Given the description of an element on the screen output the (x, y) to click on. 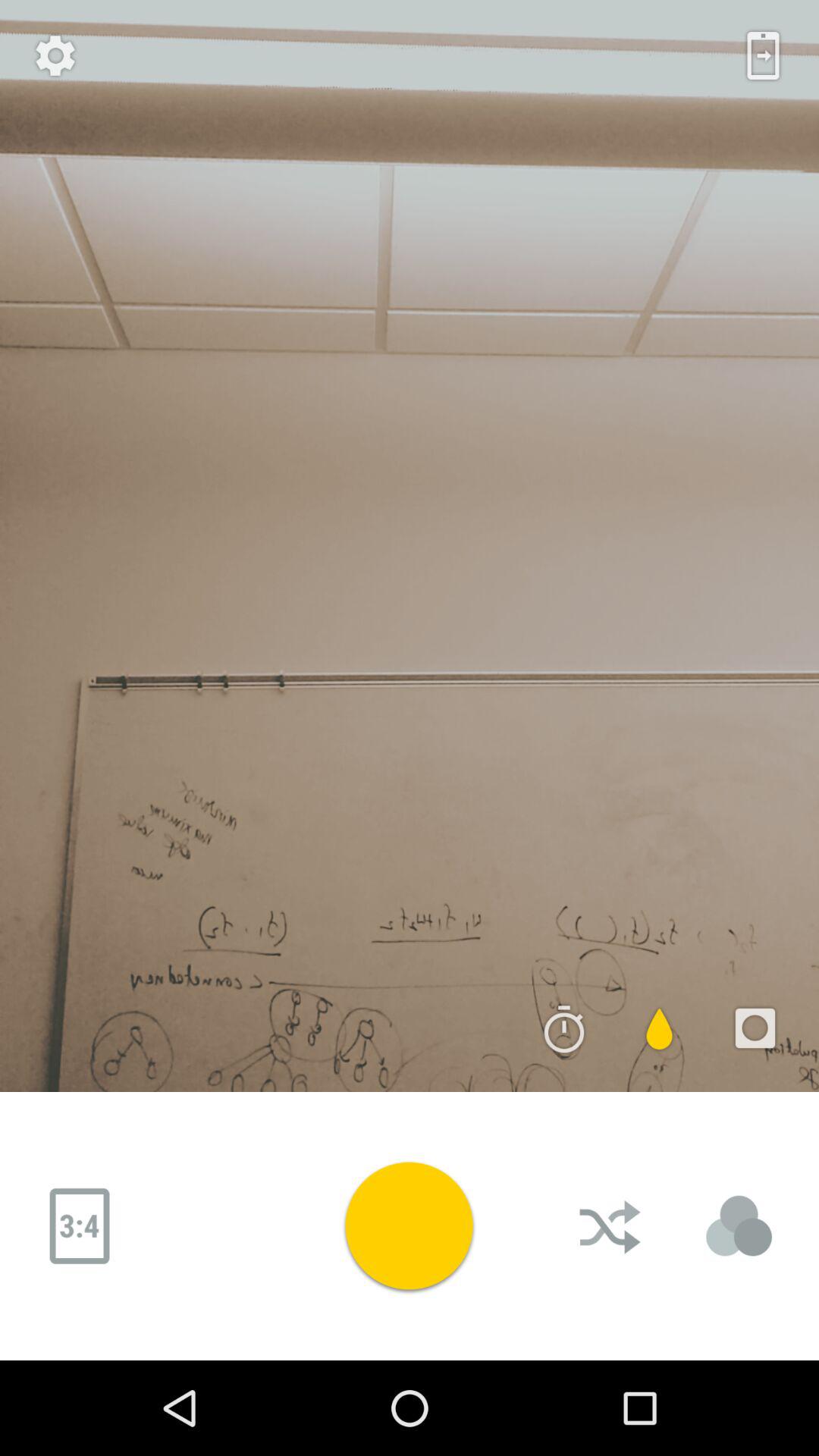
adjusts lighting options (739, 1226)
